Given the description of an element on the screen output the (x, y) to click on. 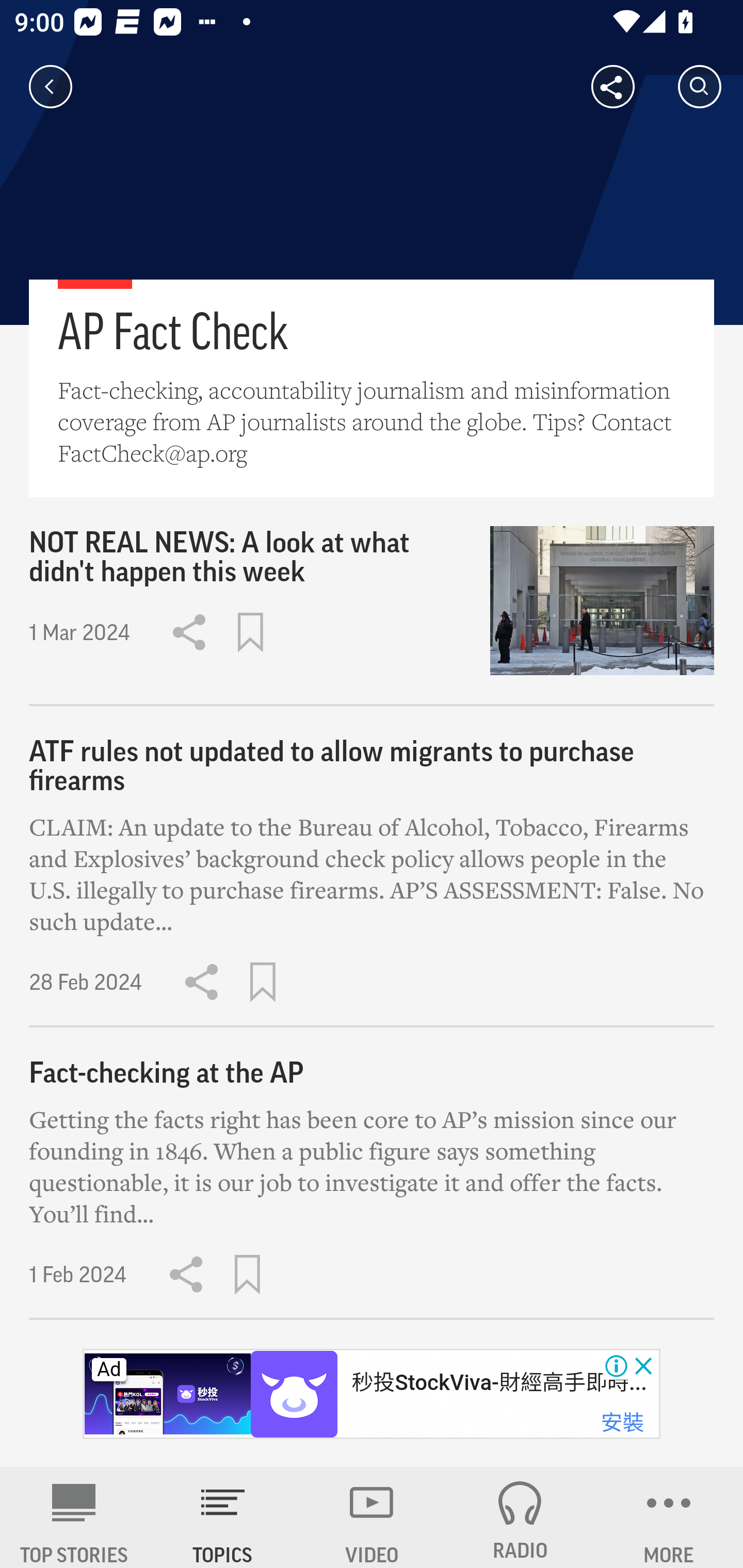
秒投StockViva-財經高手即時... (498, 1382)
安裝 (621, 1422)
AP News TOP STORIES (74, 1517)
TOPICS (222, 1517)
VIDEO (371, 1517)
RADIO (519, 1517)
MORE (668, 1517)
